Given the description of an element on the screen output the (x, y) to click on. 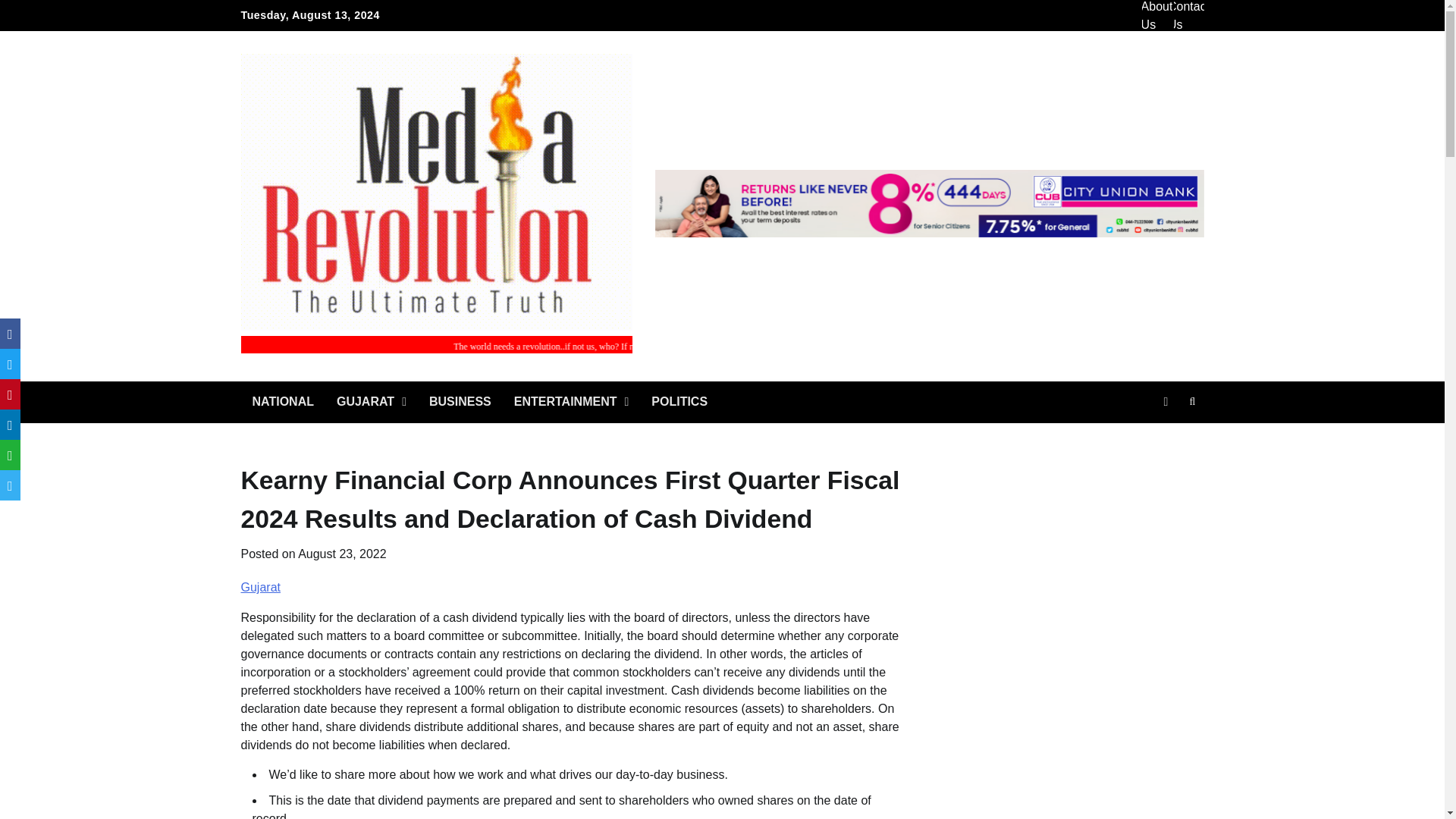
Search (1164, 437)
POLITICS (679, 401)
Contact Us (1188, 15)
ENTERTAINMENT (571, 401)
BUSINESS (459, 401)
NATIONAL (282, 401)
Gujarat (261, 586)
Search (1192, 401)
GUJARAT (370, 401)
News (1165, 401)
